Given the description of an element on the screen output the (x, y) to click on. 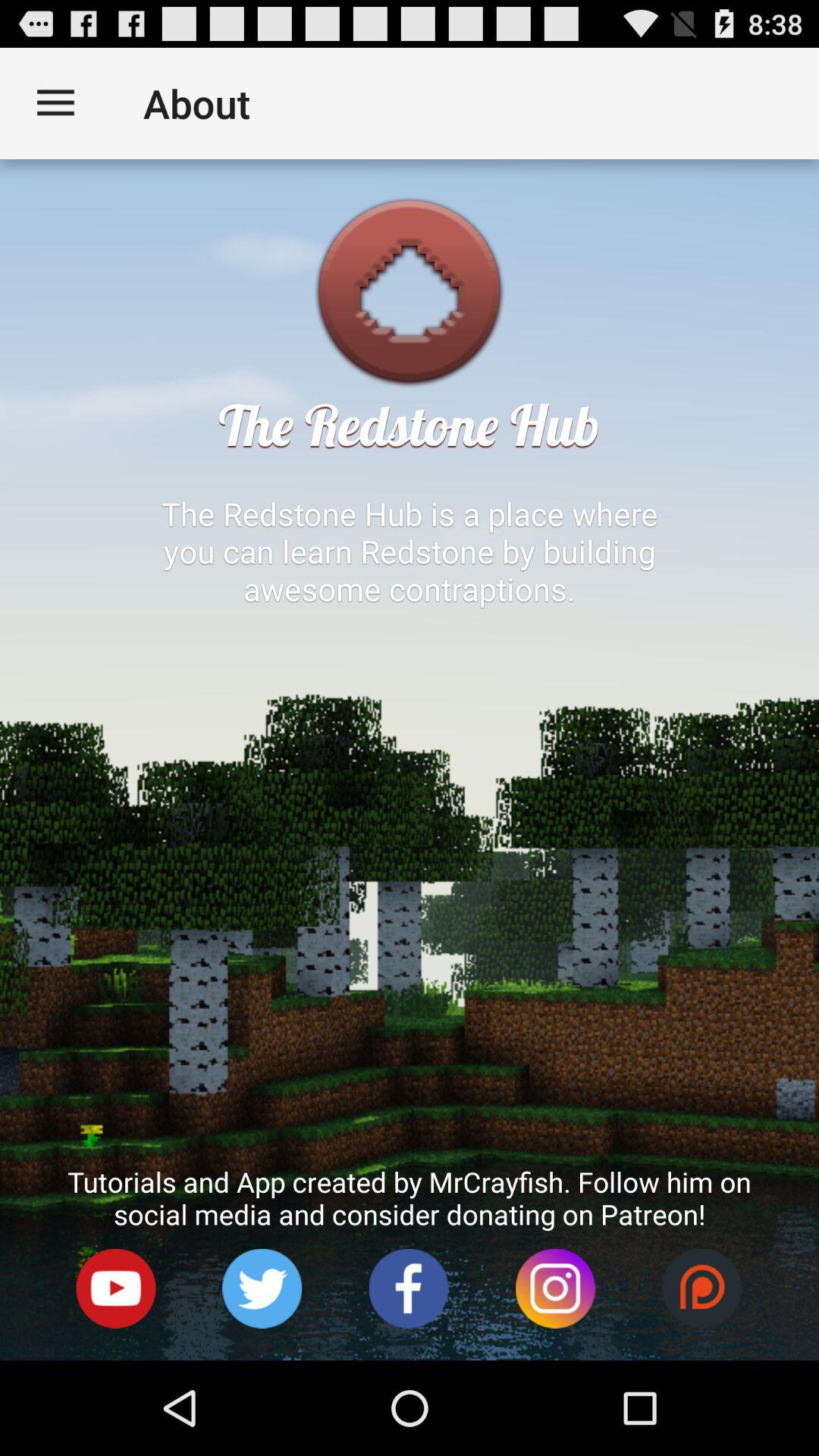
open item below the tutorials and app icon (408, 1288)
